Given the description of an element on the screen output the (x, y) to click on. 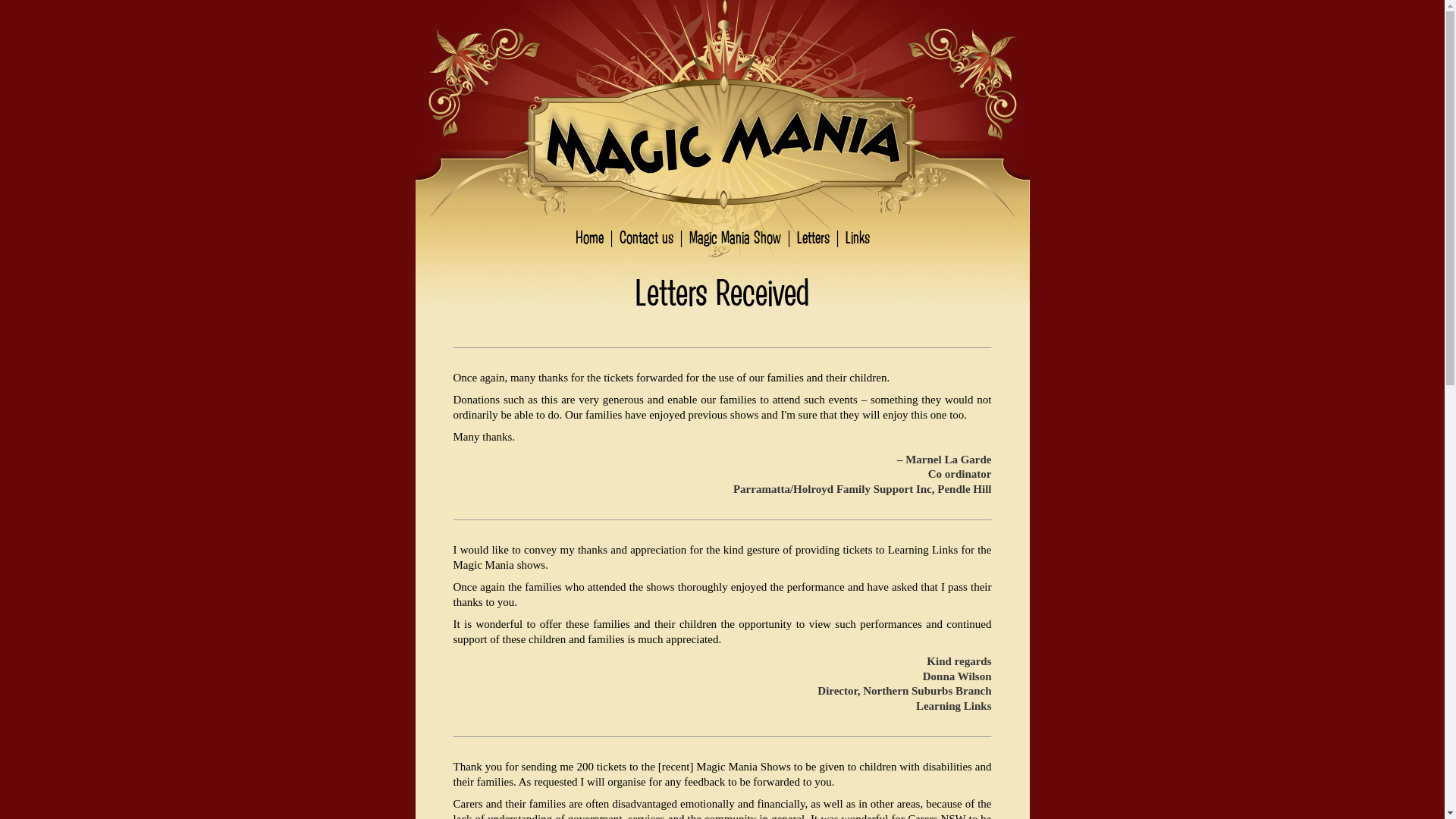
Home Element type: text (588, 235)
Links Element type: text (856, 235)
Letters Element type: text (812, 235)
Contact us Element type: text (645, 235)
Magic Mania Show Element type: text (734, 235)
